Given the description of an element on the screen output the (x, y) to click on. 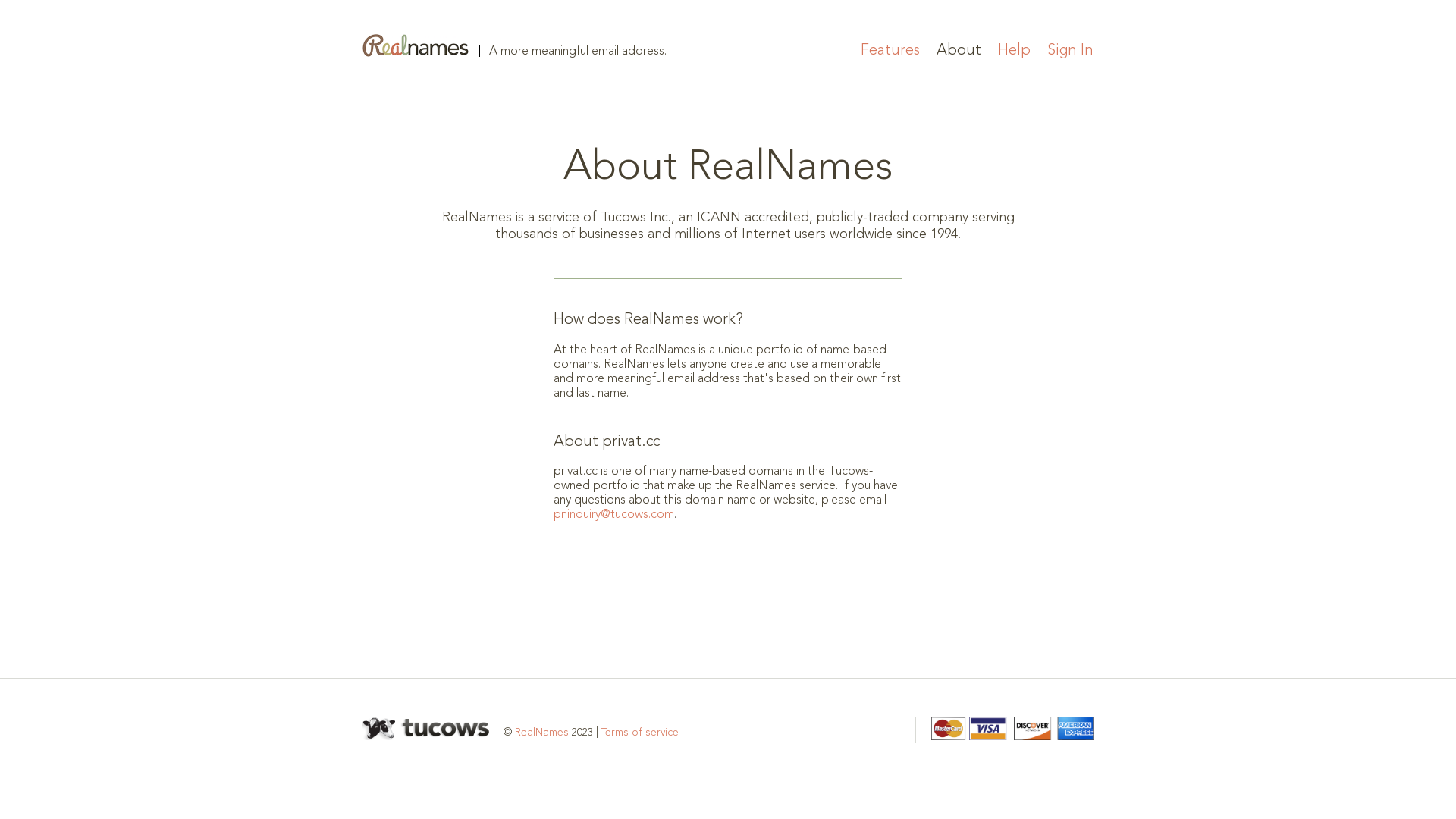
RealNames Element type: text (541, 732)
Help Element type: text (1013, 50)
pninquiry@tucows.com Element type: text (613, 514)
Terms of service Element type: text (639, 732)
Sign In Element type: text (1070, 50)
Features Element type: text (889, 50)
